Given the description of an element on the screen output the (x, y) to click on. 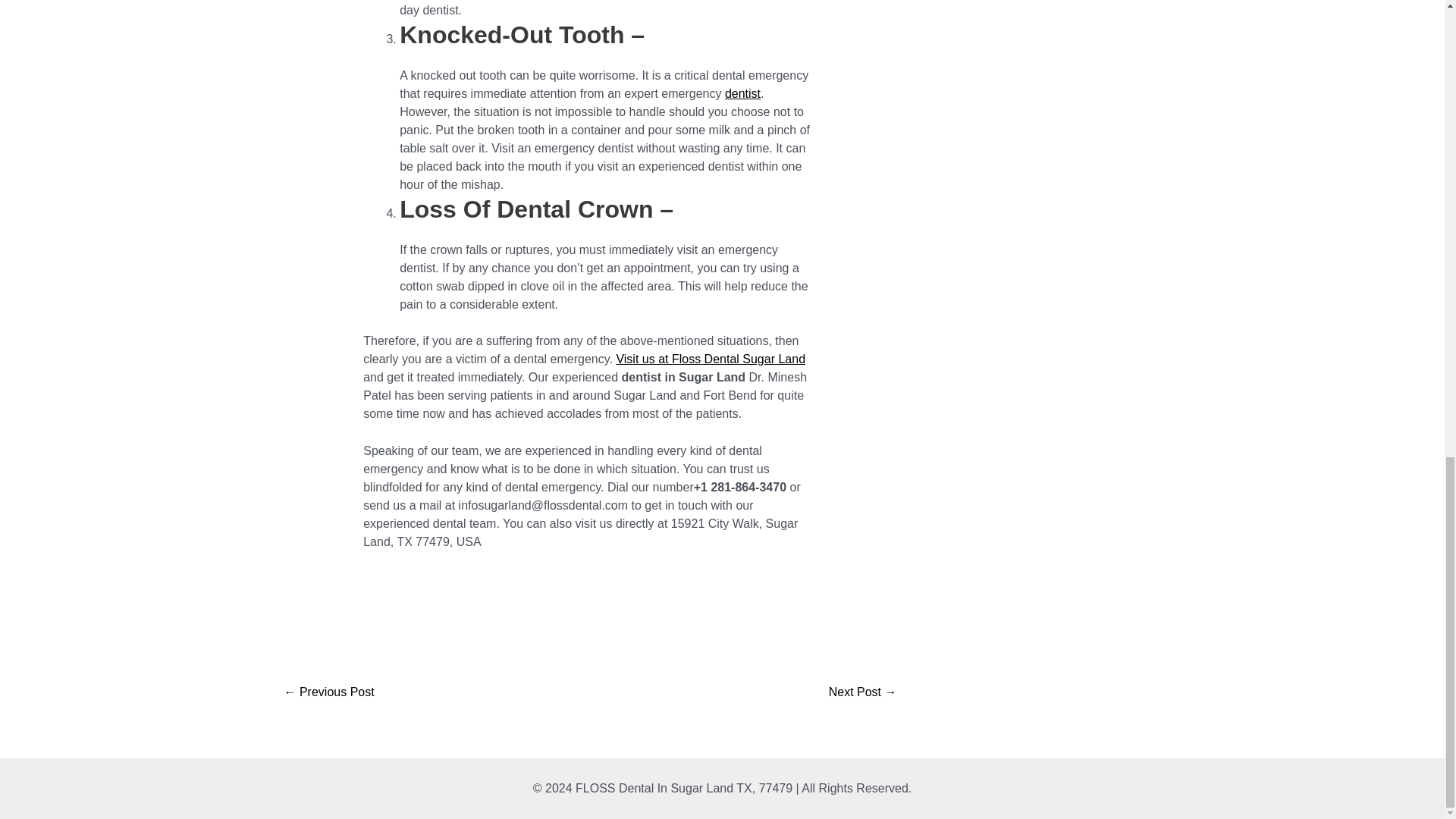
Invisalign Treatment Step By Step Process (328, 693)
